Given the description of an element on the screen output the (x, y) to click on. 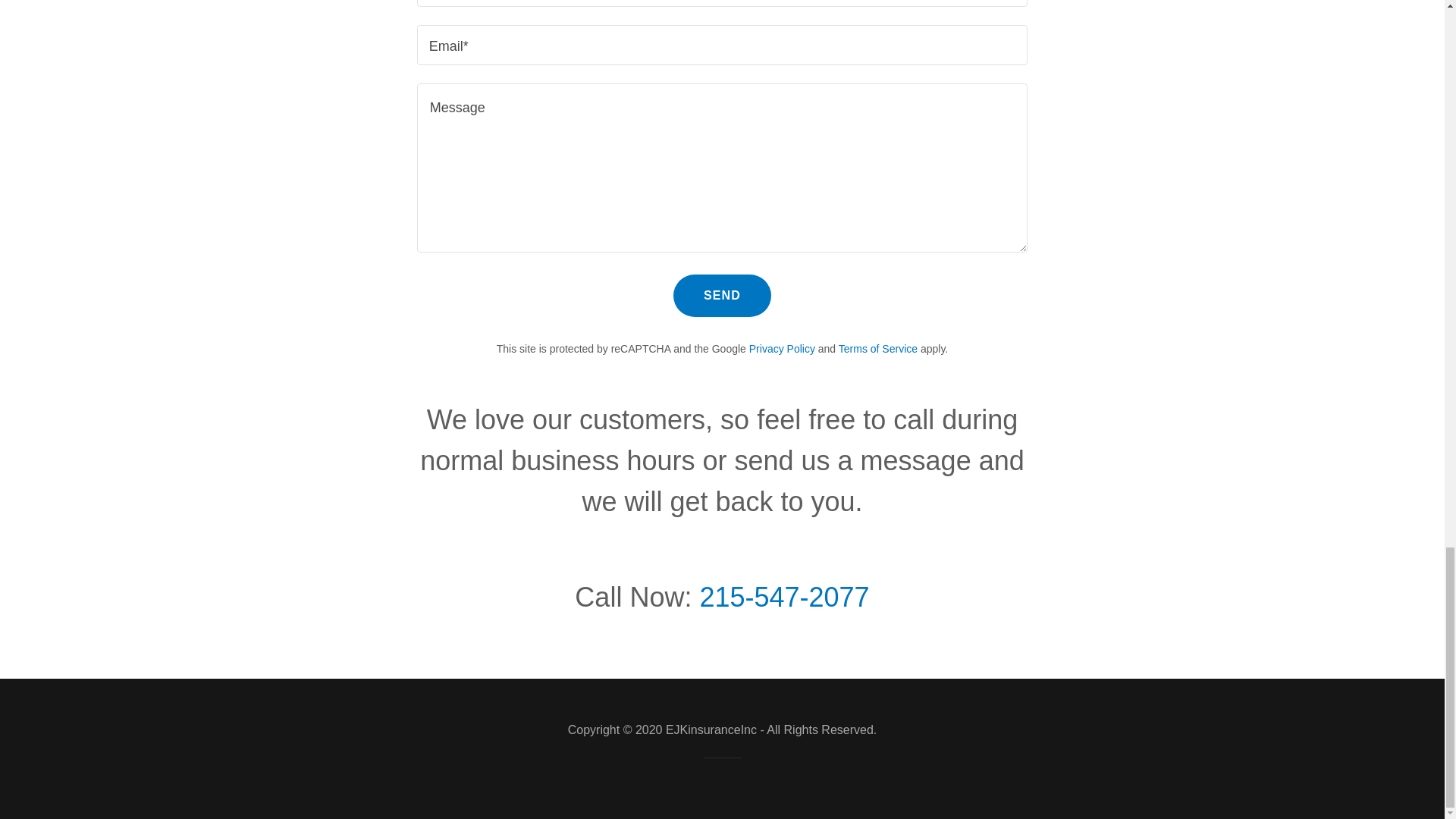
Privacy Policy (782, 348)
Terms of Service (877, 348)
215-547-2077 (783, 596)
SEND (721, 295)
